Given the description of an element on the screen output the (x, y) to click on. 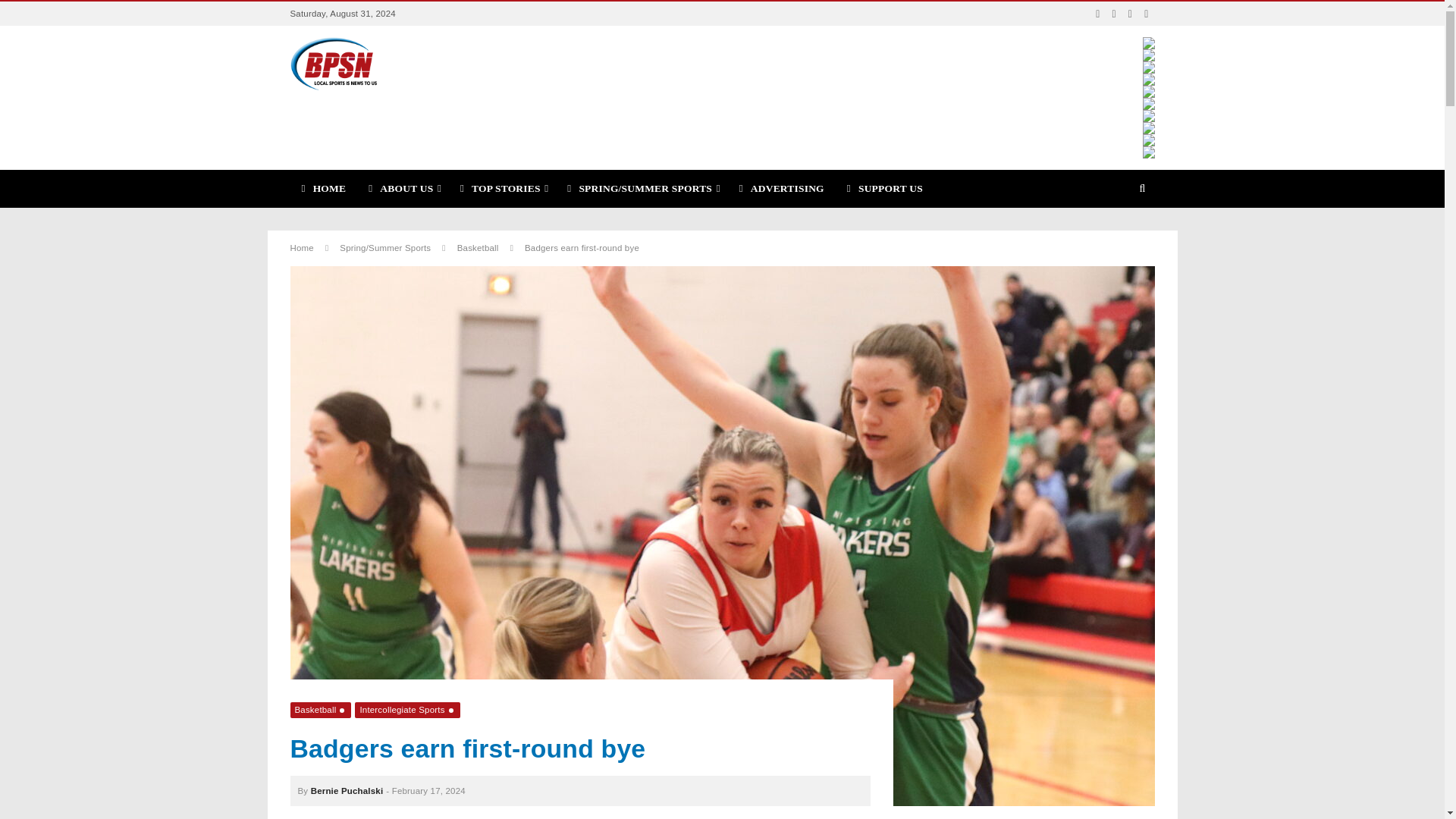
ABOUT US (402, 188)
TOP STORIES (502, 188)
BP Sports Niagara (333, 63)
HOME (322, 188)
